Given the description of an element on the screen output the (x, y) to click on. 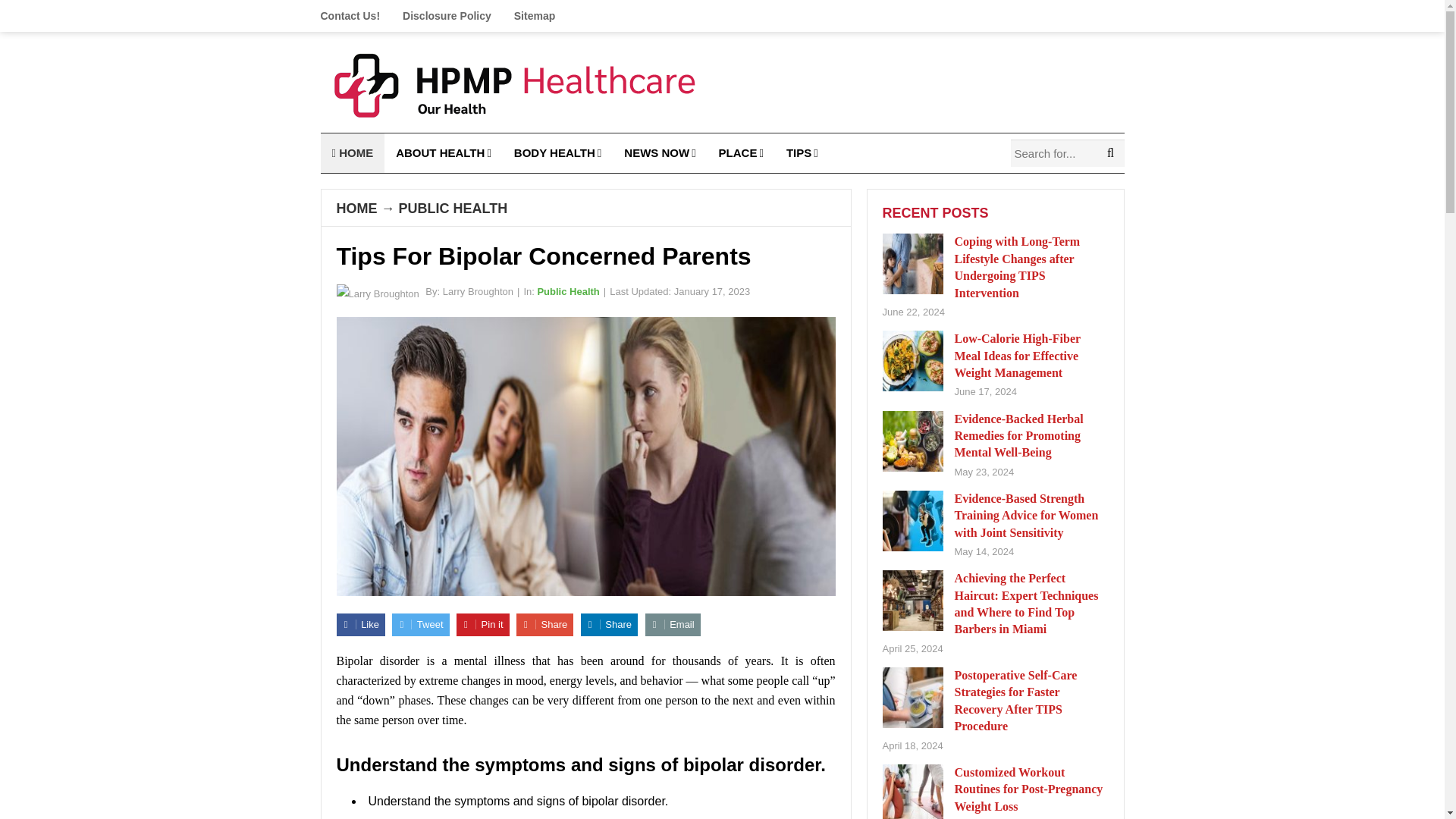
Sitemap (534, 15)
Disclosure Policy (446, 15)
Contact Us! (355, 15)
